Given the description of an element on the screen output the (x, y) to click on. 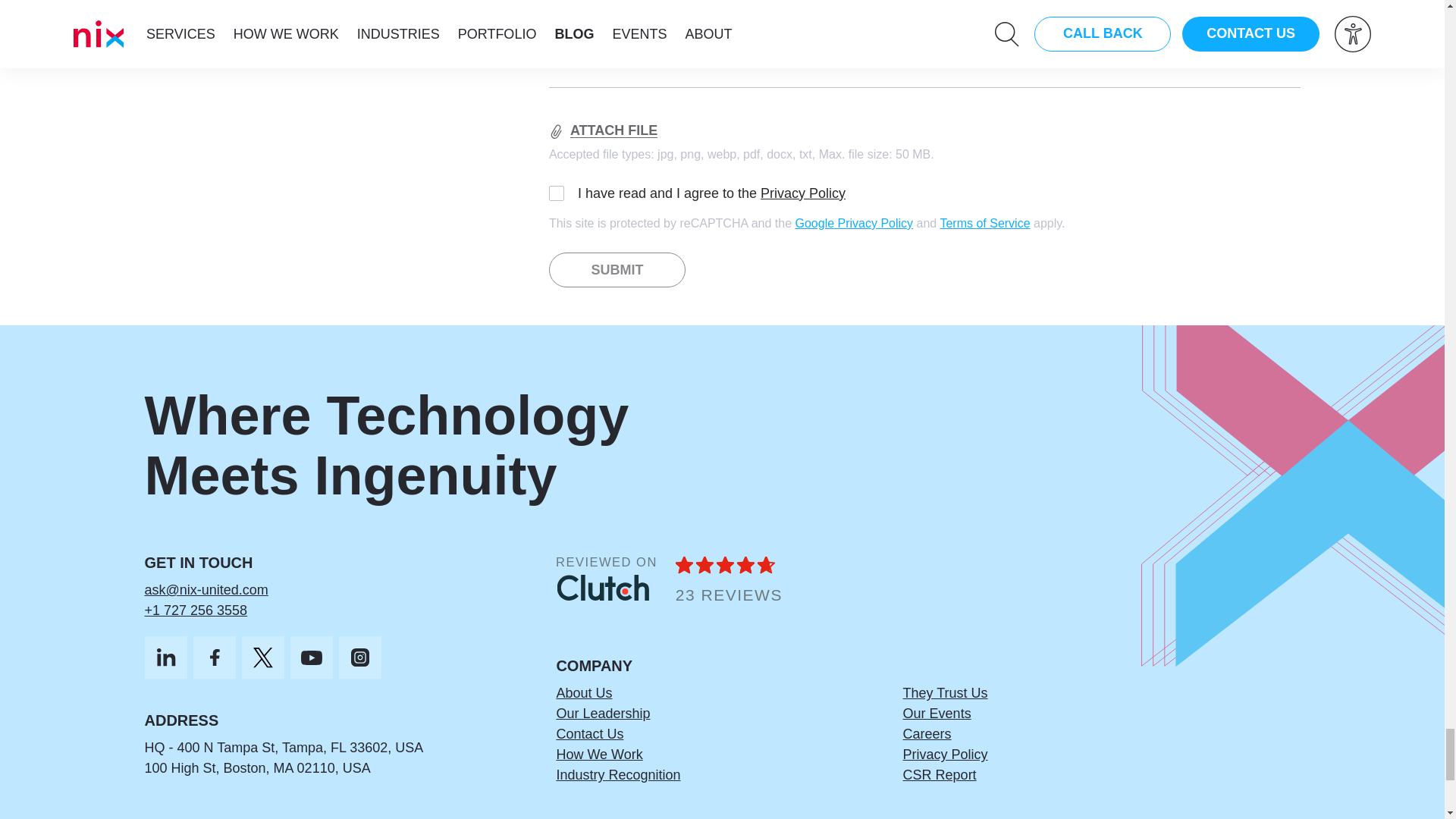
Submit (616, 269)
